Given the description of an element on the screen output the (x, y) to click on. 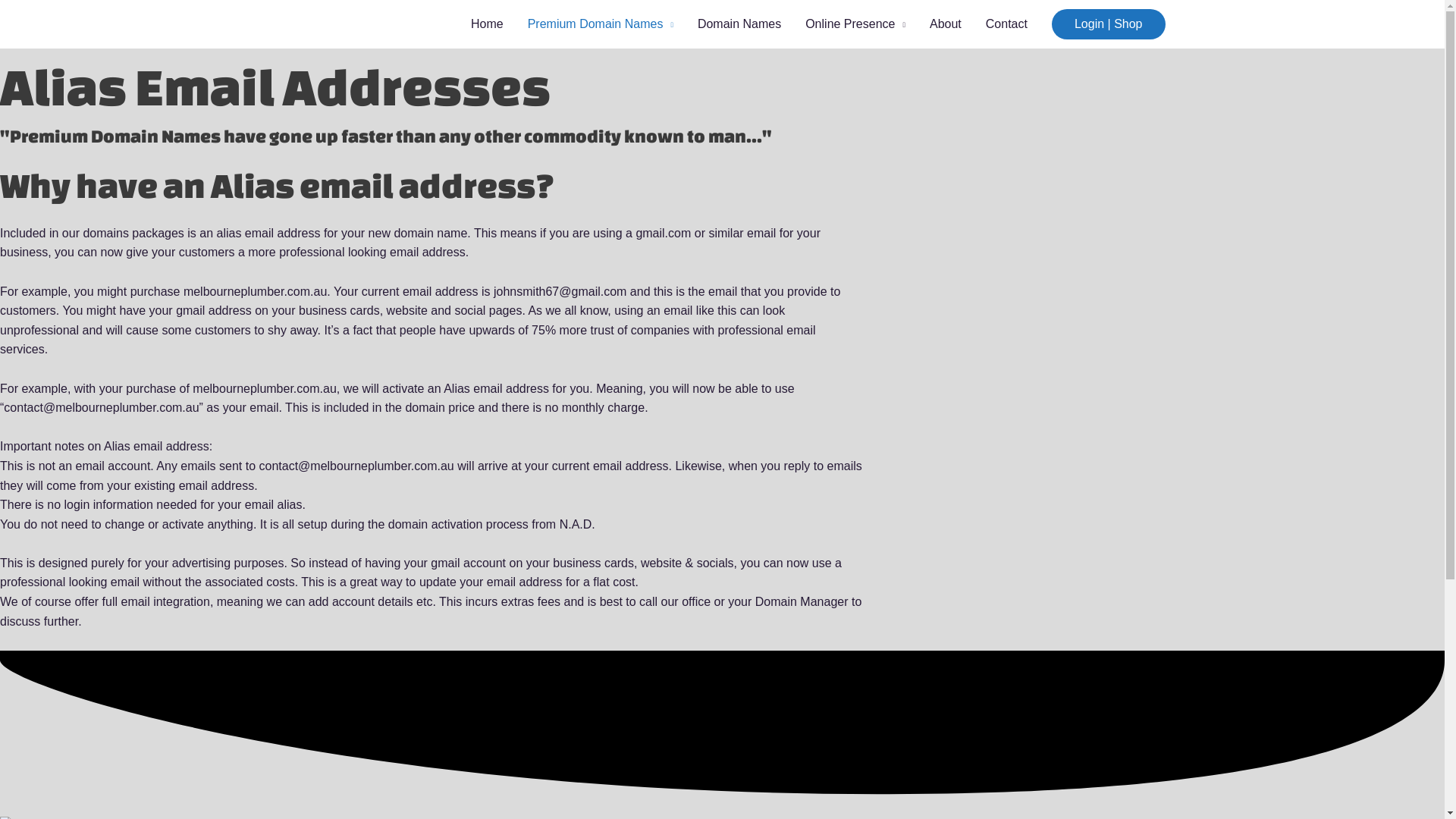
Premium Domain Names Element type: text (600, 24)
Home Element type: text (486, 24)
Contact Element type: text (1006, 24)
Domain Names Element type: text (739, 24)
Online Presence Element type: text (855, 24)
About Element type: text (945, 24)
Login | Shop Element type: text (1108, 24)
